Given the description of an element on the screen output the (x, y) to click on. 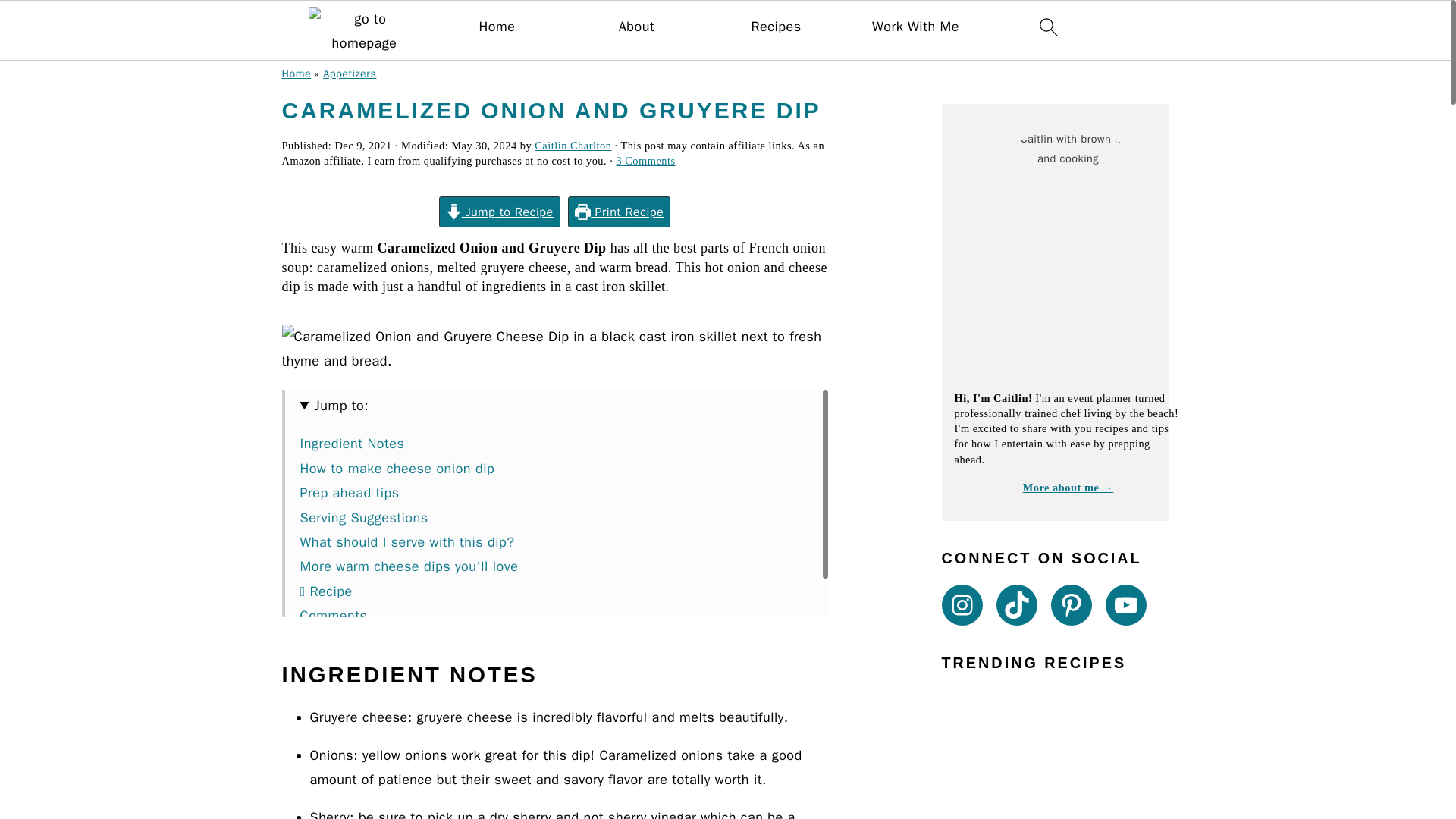
Work With Me (915, 27)
Home (497, 27)
search icon (1048, 26)
Home (296, 73)
About (635, 27)
Recipes (775, 27)
